Given the description of an element on the screen output the (x, y) to click on. 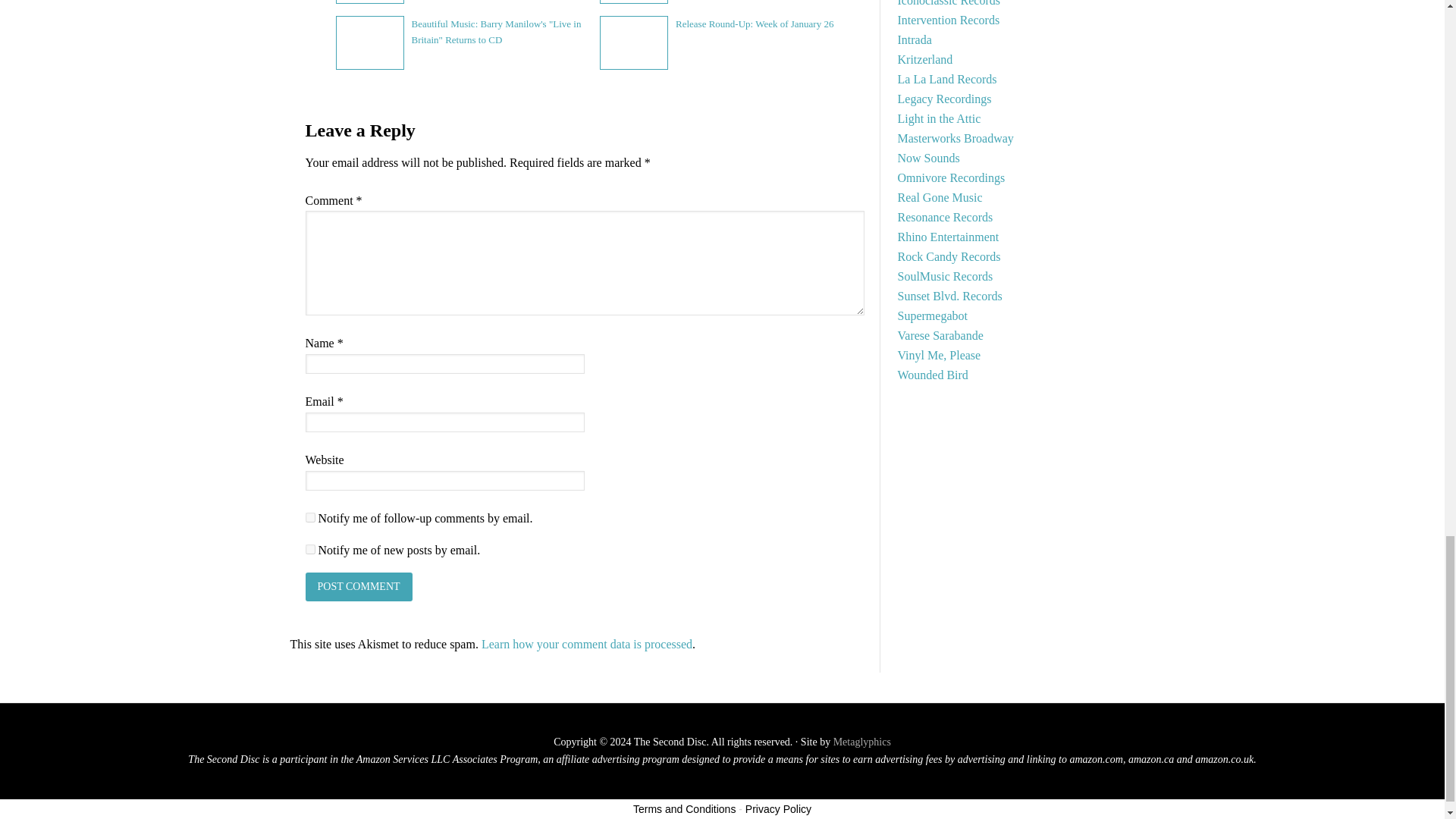
Permanent Link toBeautiful Music: Barry Manilow's  (495, 31)
subscribe (309, 549)
Permanent Link toRelease Round-Up: Week of January 26 (753, 23)
Post Comment (358, 586)
subscribe (309, 517)
